Given the description of an element on the screen output the (x, y) to click on. 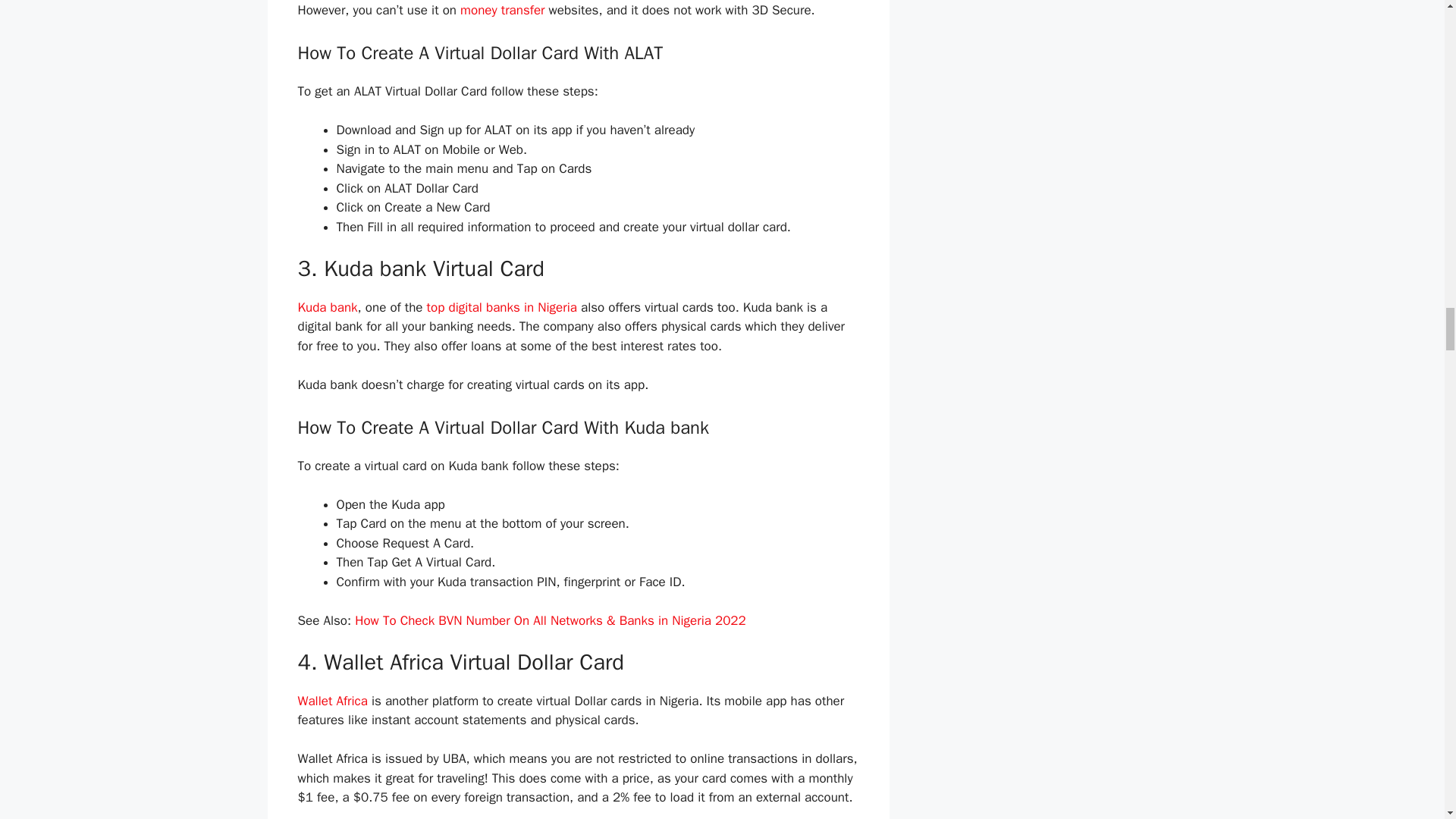
money transfer (502, 10)
Wallet Africa (331, 700)
Kuda bank (326, 307)
top digital banks in Nigeria (501, 307)
